Given the description of an element on the screen output the (x, y) to click on. 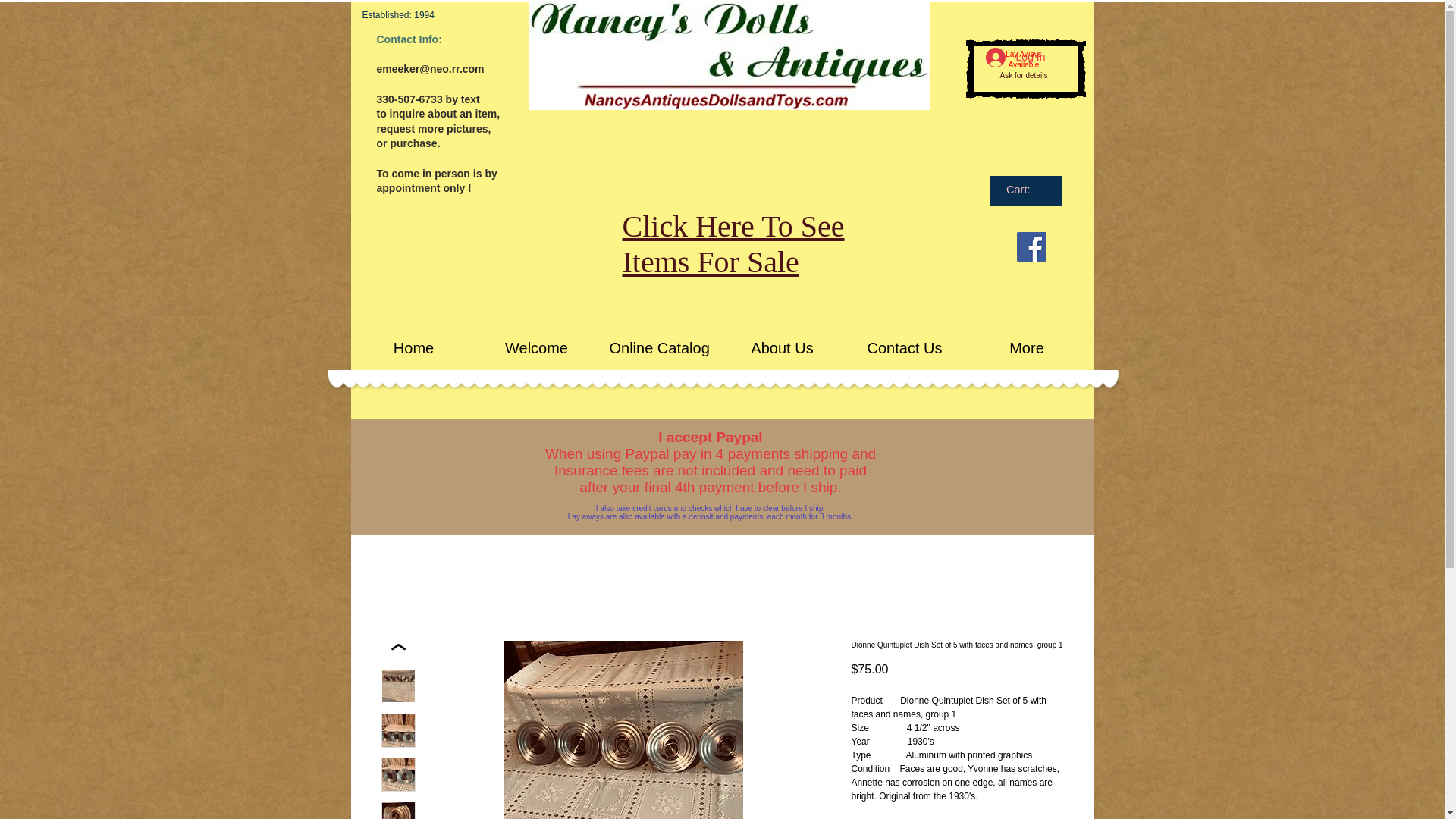
Log In (1016, 57)
Contact Us (904, 347)
Cart: (1025, 189)
About Us (781, 347)
Welcome (535, 347)
Cart: (1025, 189)
Click Here To See Items For Sale (732, 244)
Home (413, 347)
Online Catalog (658, 347)
